Given the description of an element on the screen output the (x, y) to click on. 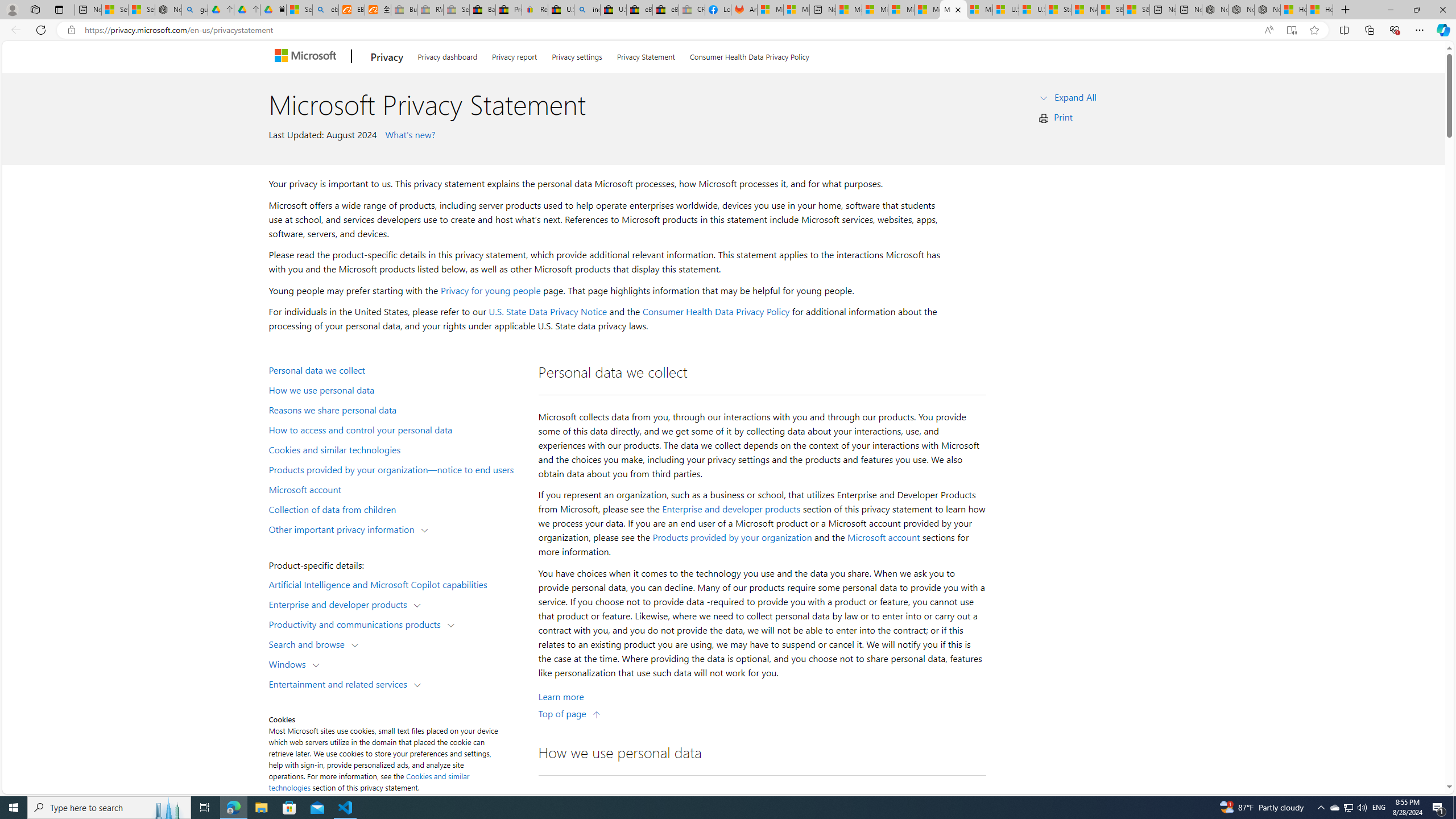
Expand All (1075, 96)
New Tab (1346, 9)
Windows (289, 663)
Minimize (1390, 9)
Microsoft account (883, 537)
Privacy dashboard (447, 54)
Restore (1416, 9)
Copilot (Ctrl+Shift+.) (1442, 29)
Microsoft account (395, 488)
